Given the description of an element on the screen output the (x, y) to click on. 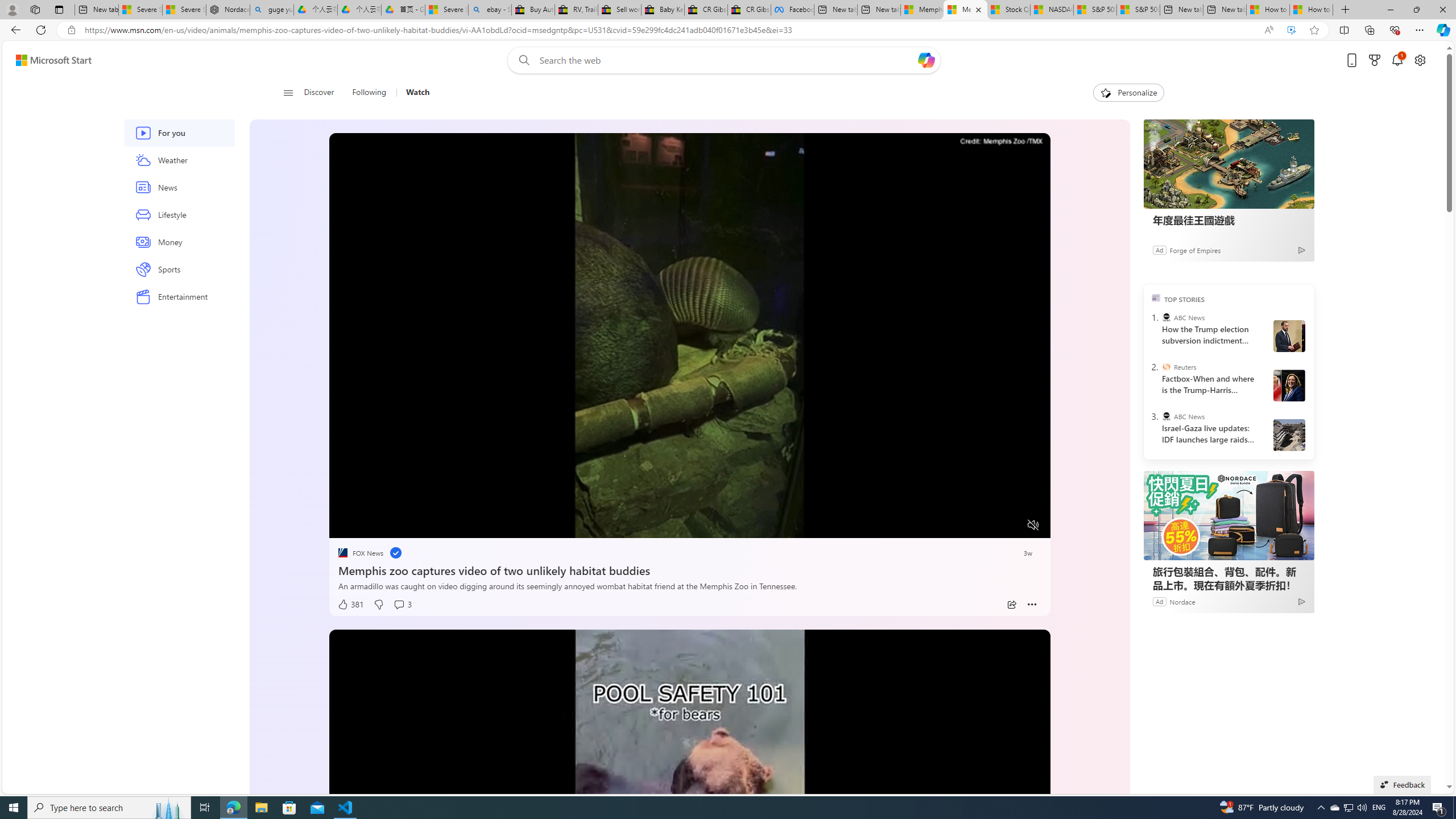
ebay - Search (489, 9)
Captions (988, 525)
placeholder FOX News (359, 552)
Web search (520, 60)
To get missing image descriptions, open the context menu. (368, 524)
